Given the description of an element on the screen output the (x, y) to click on. 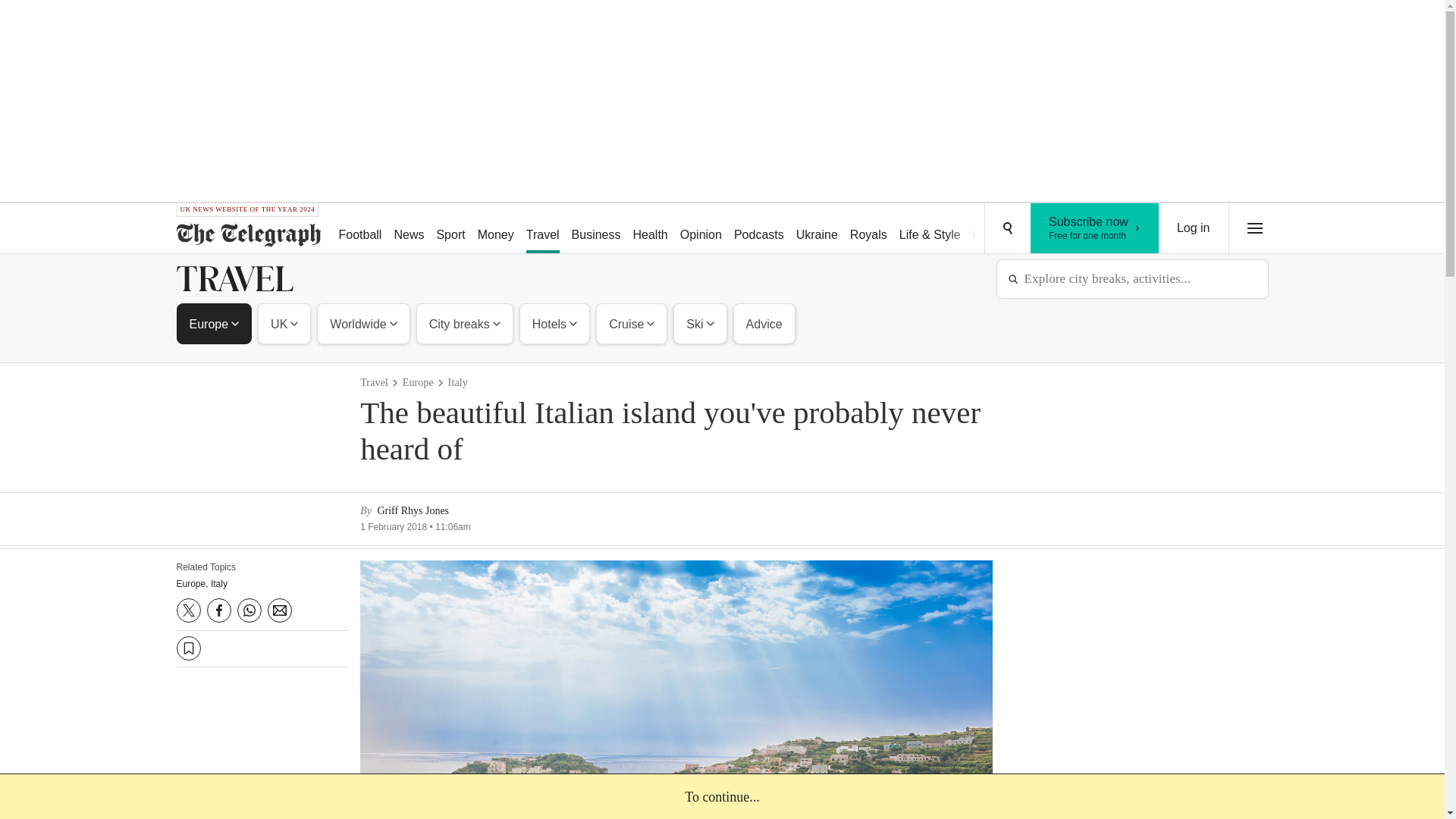
News (408, 228)
Business (596, 228)
UK (284, 323)
Royals (868, 228)
Travel (542, 228)
Football (359, 228)
Podcasts (759, 228)
Europe (214, 323)
Puzzles (1044, 228)
Health (649, 228)
Opinion (701, 228)
Ukraine (817, 228)
Sport (1094, 228)
Culture (449, 228)
